Given the description of an element on the screen output the (x, y) to click on. 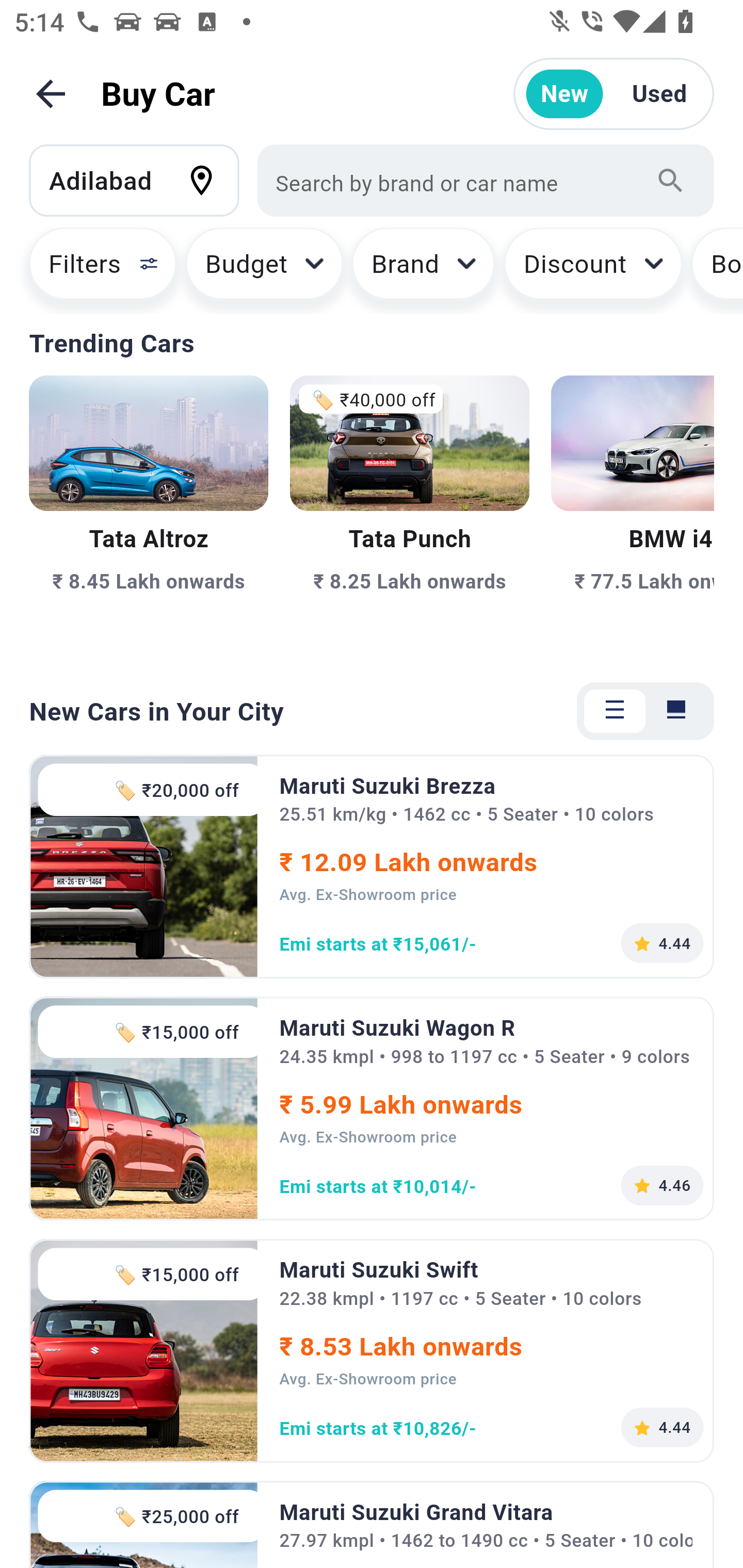
Back (50, 93)
New (564, 93)
Used (659, 93)
Adilabad (142, 180)
Filters (93, 270)
Budget (264, 270)
Brand (423, 270)
Discount (592, 270)
₹ 8.45 Lakh onwards Tata Altroz (148, 515)
🏷️ ₹40,000 off
₹ 8.25 Lakh onwards Tata Punch (409, 515)
₹ 77.5 Lakh onwards BMW i4 (632, 515)
Tab 1 of 2 (614, 710)
Tab 2 of 2 (675, 710)
